Given the description of an element on the screen output the (x, y) to click on. 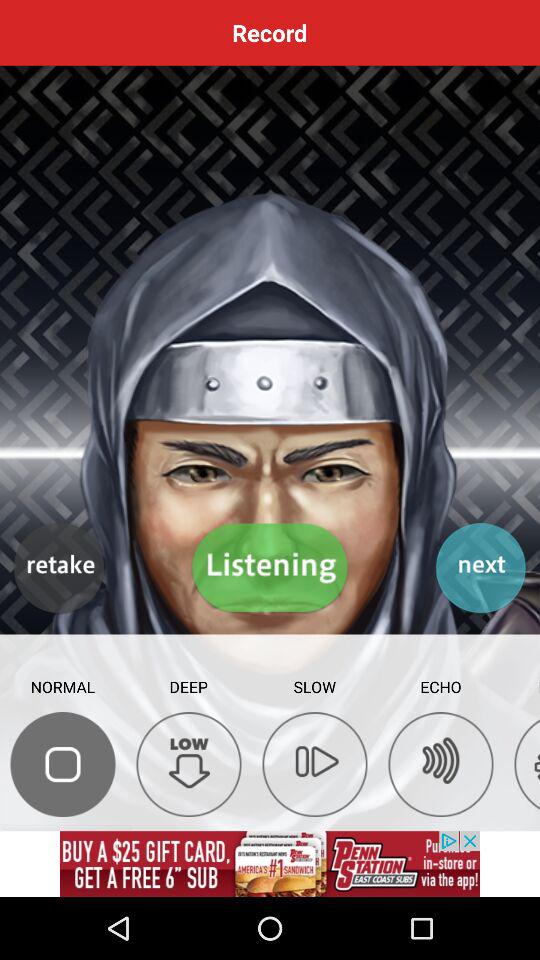
go to paly (314, 764)
